Given the description of an element on the screen output the (x, y) to click on. 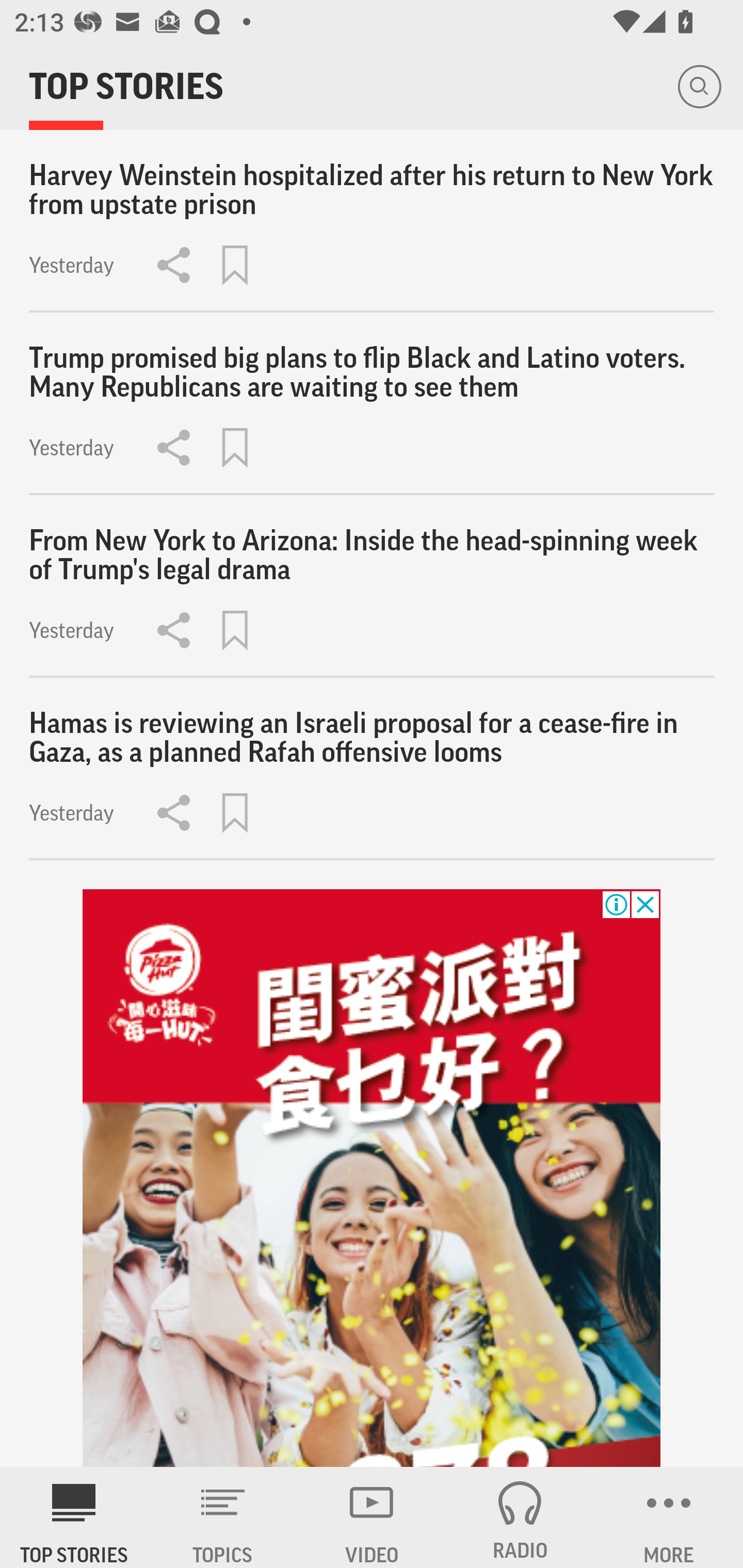
Advertisement (371, 1178)
AP News TOP STORIES (74, 1517)
TOPICS (222, 1517)
VIDEO (371, 1517)
RADIO (519, 1517)
MORE (668, 1517)
